Given the description of an element on the screen output the (x, y) to click on. 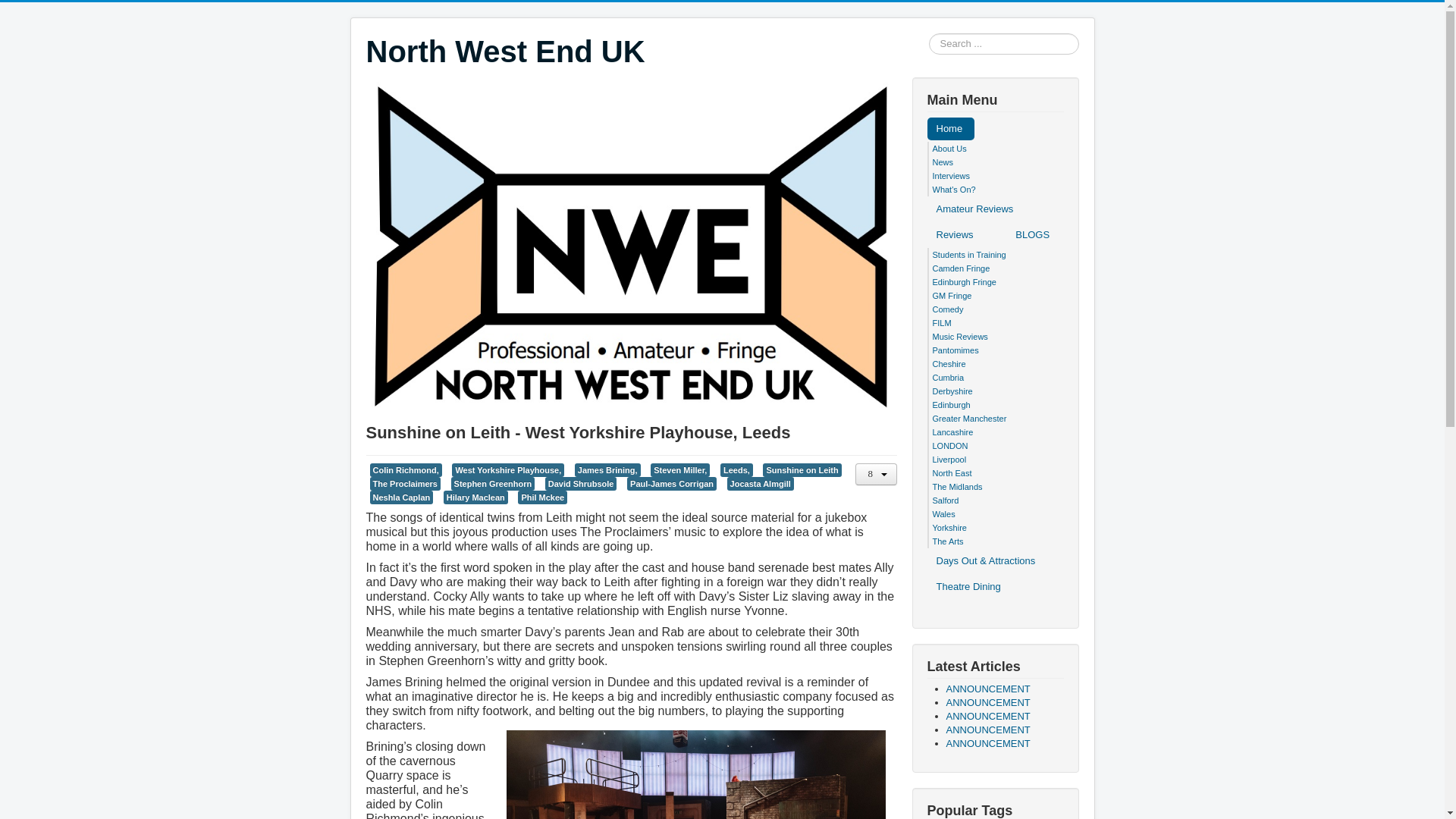
Paul-James Corrigan (671, 483)
About Us (949, 148)
Leeds, (736, 469)
Students in Training (969, 254)
Amateur Reviews (974, 209)
Derbyshire (952, 390)
Stephen Greenhorn (493, 483)
News (943, 162)
Music Reviews (960, 336)
What's On? (954, 189)
Sunshine on Leith (801, 469)
Pantomimes (955, 349)
David Shrubsole (580, 483)
Phil Mckee (542, 497)
FILM (942, 322)
